Given the description of an element on the screen output the (x, y) to click on. 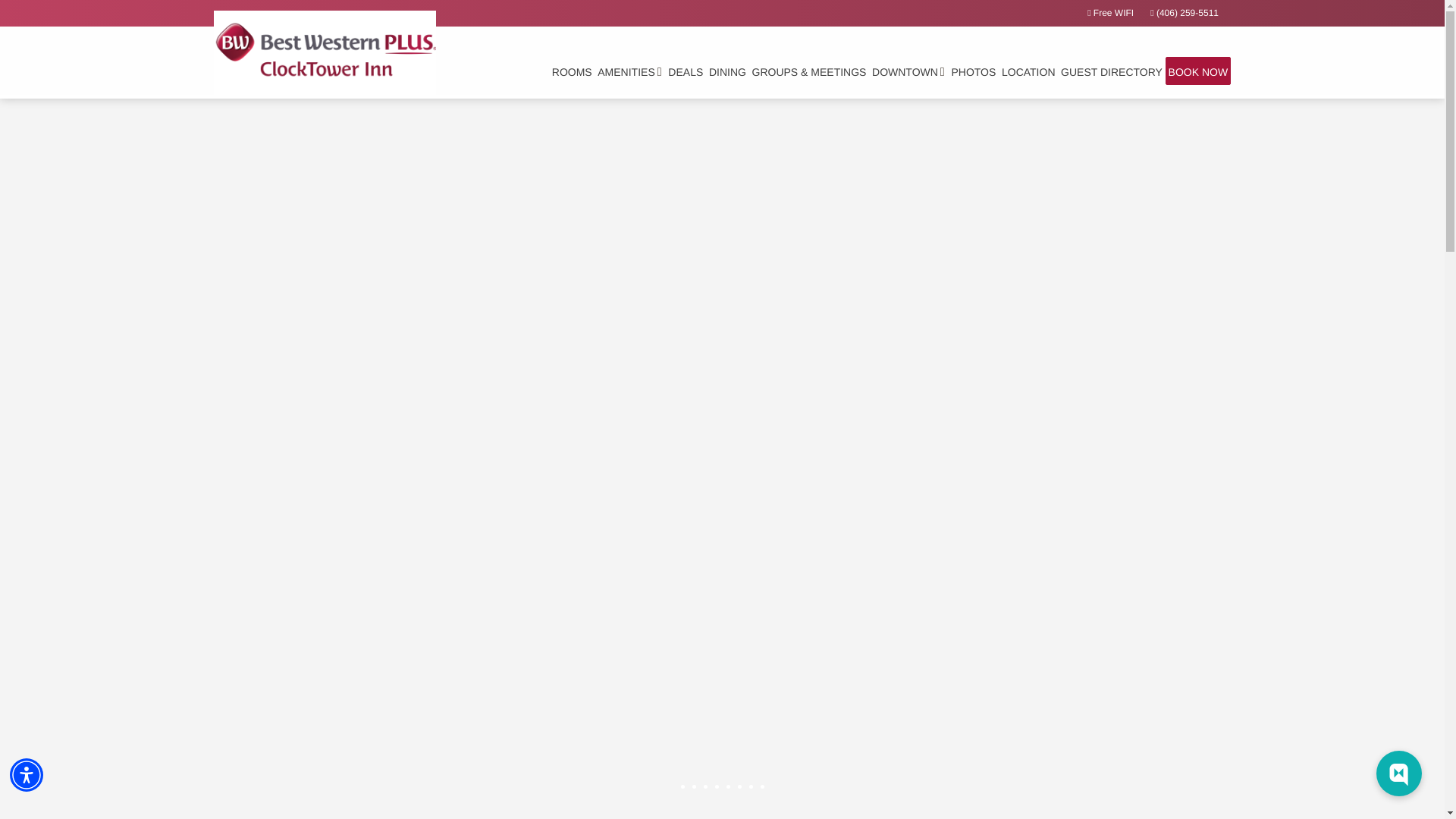
Rooms (571, 70)
Deals (685, 70)
AMENITIES (629, 70)
BOOK NOW (1198, 70)
DINING (727, 70)
Free WIFI (1109, 12)
Dining (727, 70)
GUEST DIRECTORY (1111, 70)
PHOTOS (973, 70)
Amenities (629, 70)
Downtown (908, 70)
ROOMS (571, 70)
DEALS (685, 70)
DOWNTOWN (908, 70)
LOCATION (1028, 70)
